Given the description of an element on the screen output the (x, y) to click on. 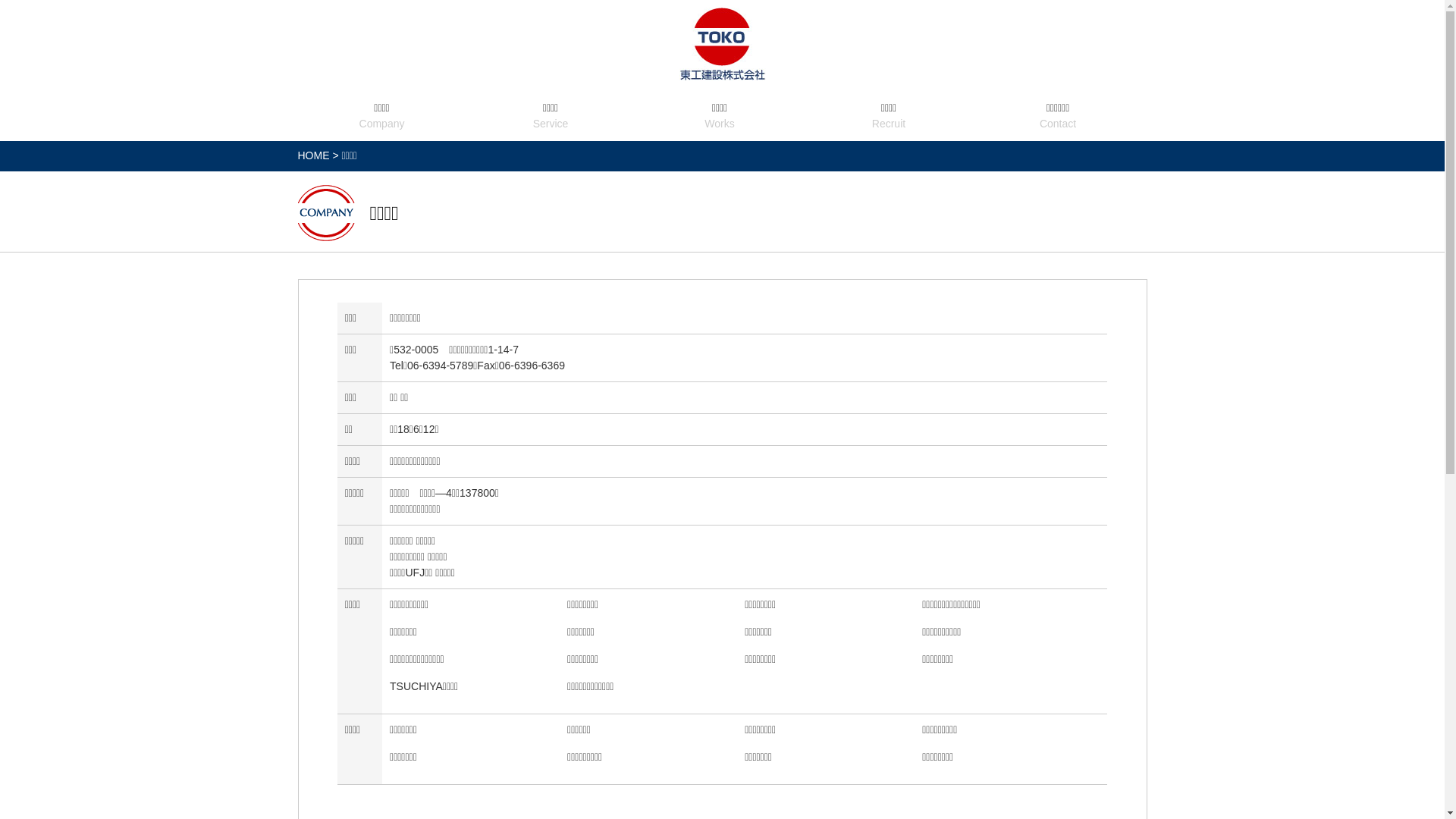
HOME Element type: text (313, 155)
